Given the description of an element on the screen output the (x, y) to click on. 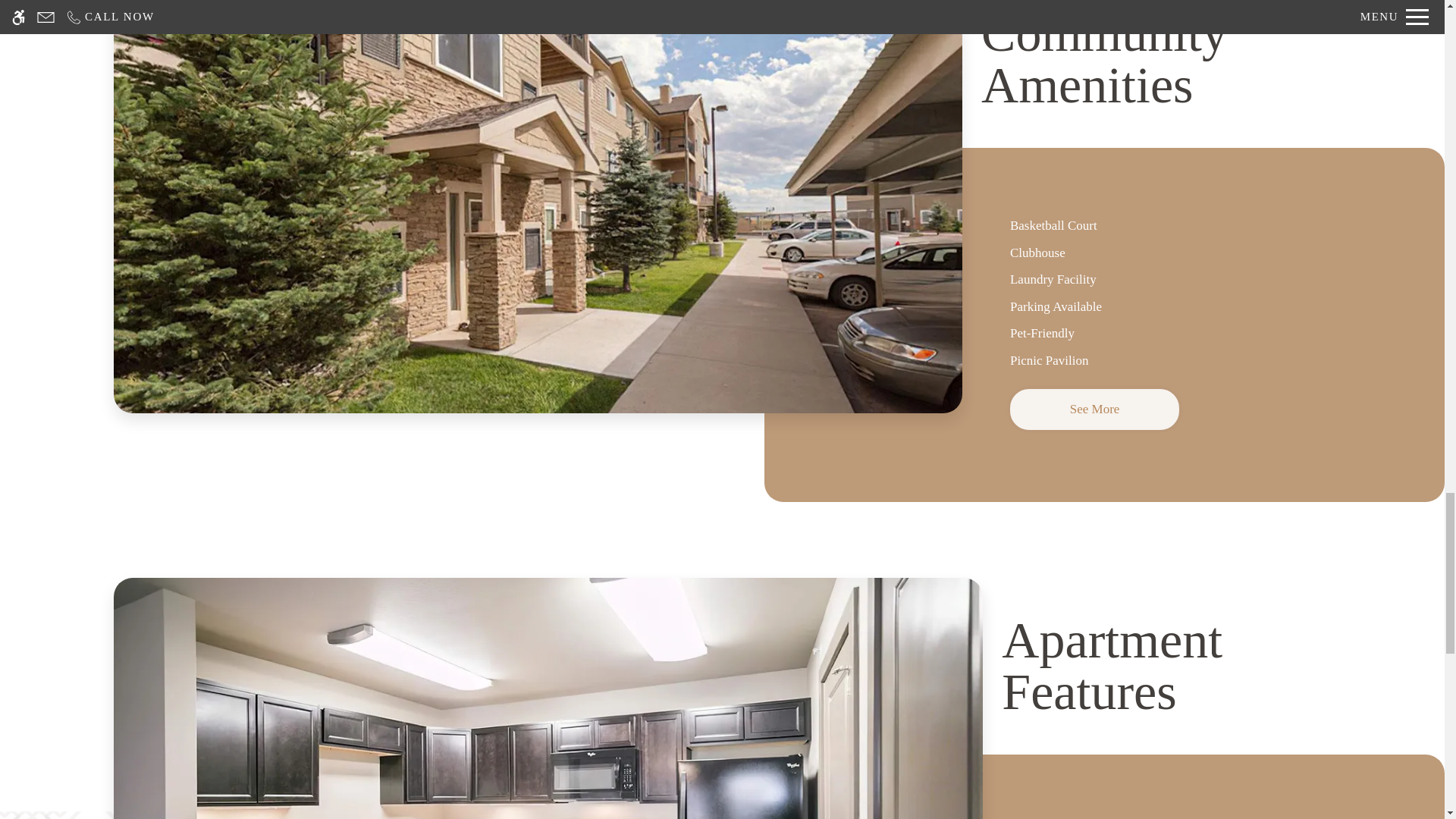
See More (1094, 409)
